Given the description of an element on the screen output the (x, y) to click on. 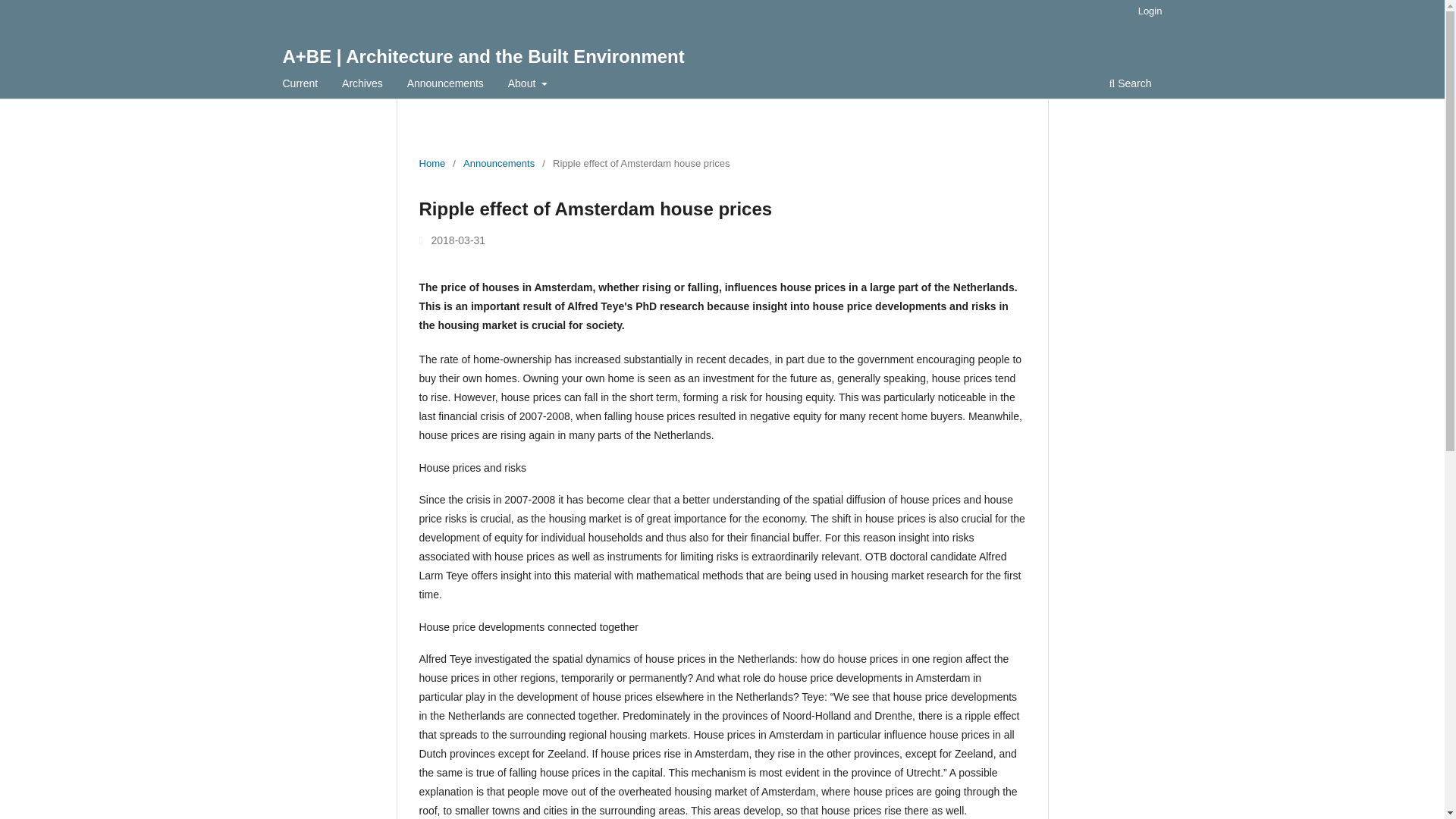
Login (1150, 11)
Home (432, 163)
Current (300, 85)
Search (1129, 85)
Archives (362, 85)
Announcements (445, 85)
Announcements (498, 163)
About (527, 85)
